Given the description of an element on the screen output the (x, y) to click on. 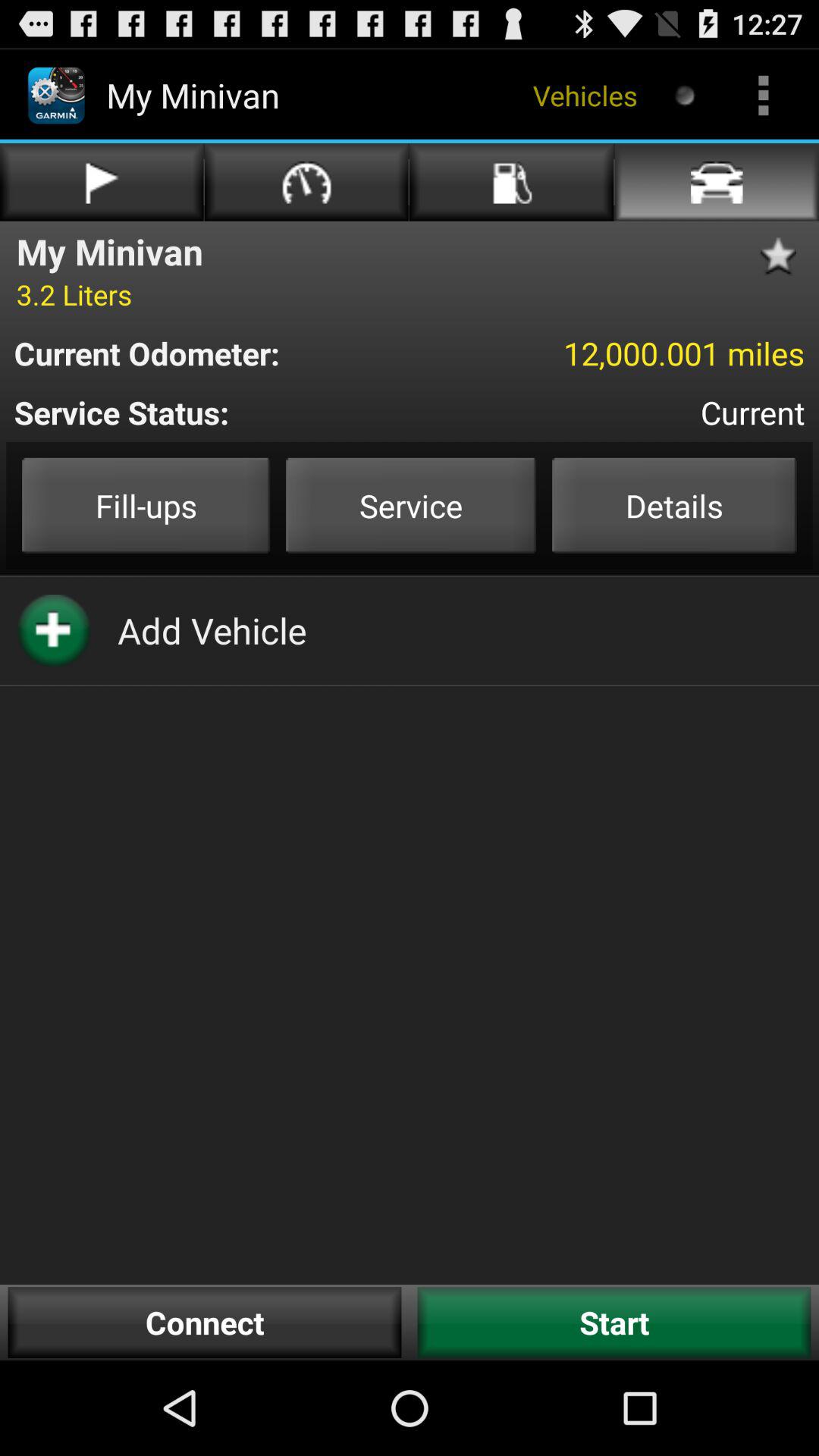
open the item to the right of service item (674, 505)
